Given the description of an element on the screen output the (x, y) to click on. 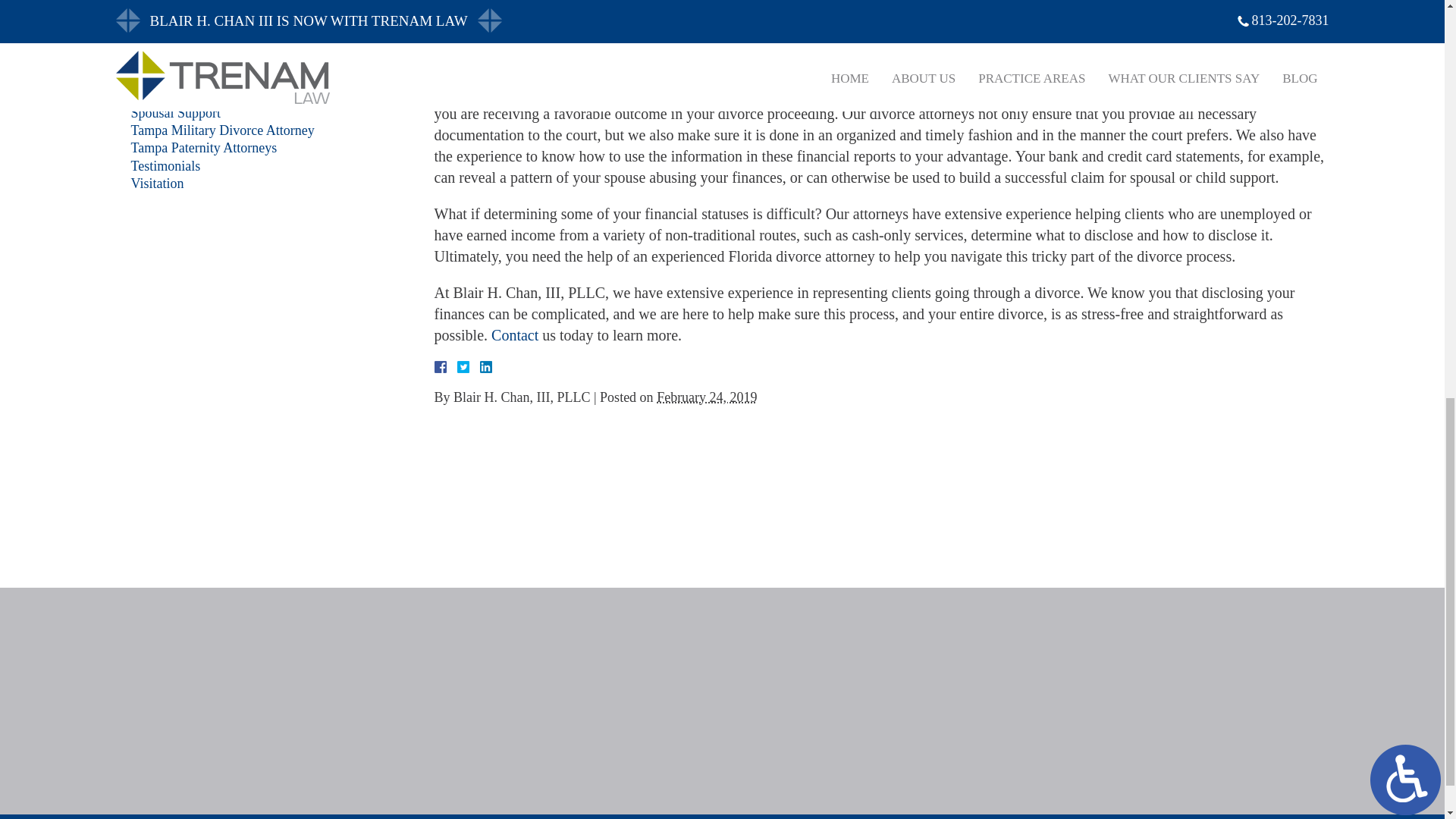
Twitter (468, 367)
2019-02-24T13:27:49-0800 (706, 396)
Contact (515, 334)
Facebook (457, 367)
LinkedIn (478, 367)
